Given the description of an element on the screen output the (x, y) to click on. 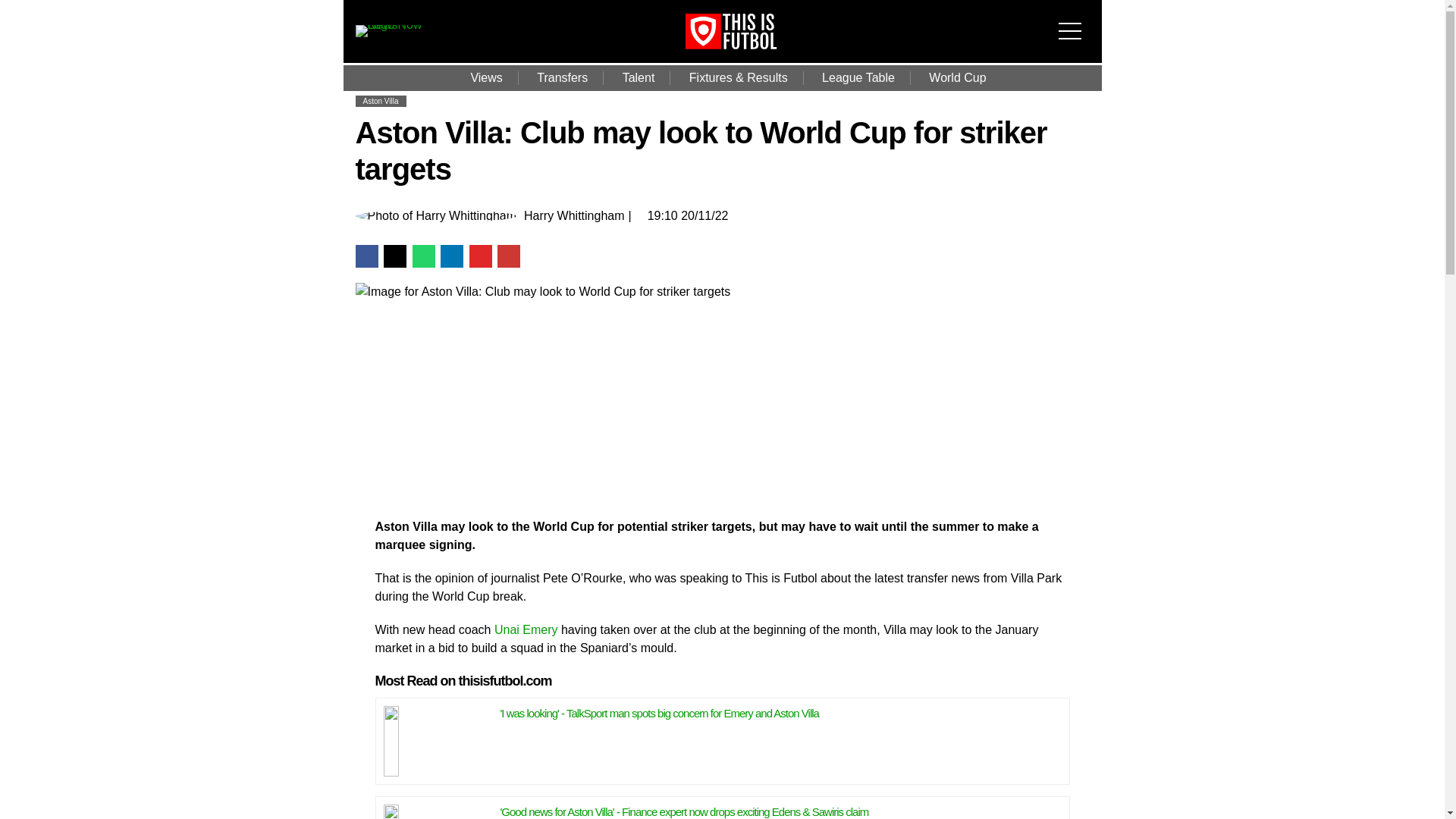
Menu (1074, 21)
Harry Whittingham (574, 215)
League Table (858, 78)
share on Twitter (395, 255)
Views (485, 78)
share on Facebook (366, 255)
Talent (638, 78)
World Cup (957, 78)
Transfers (561, 78)
Aston Villa (379, 101)
share on Flipboard (480, 255)
share on Email (508, 255)
share on WhatsApp (423, 255)
share on LinkedIn (452, 255)
